Given the description of an element on the screen output the (x, y) to click on. 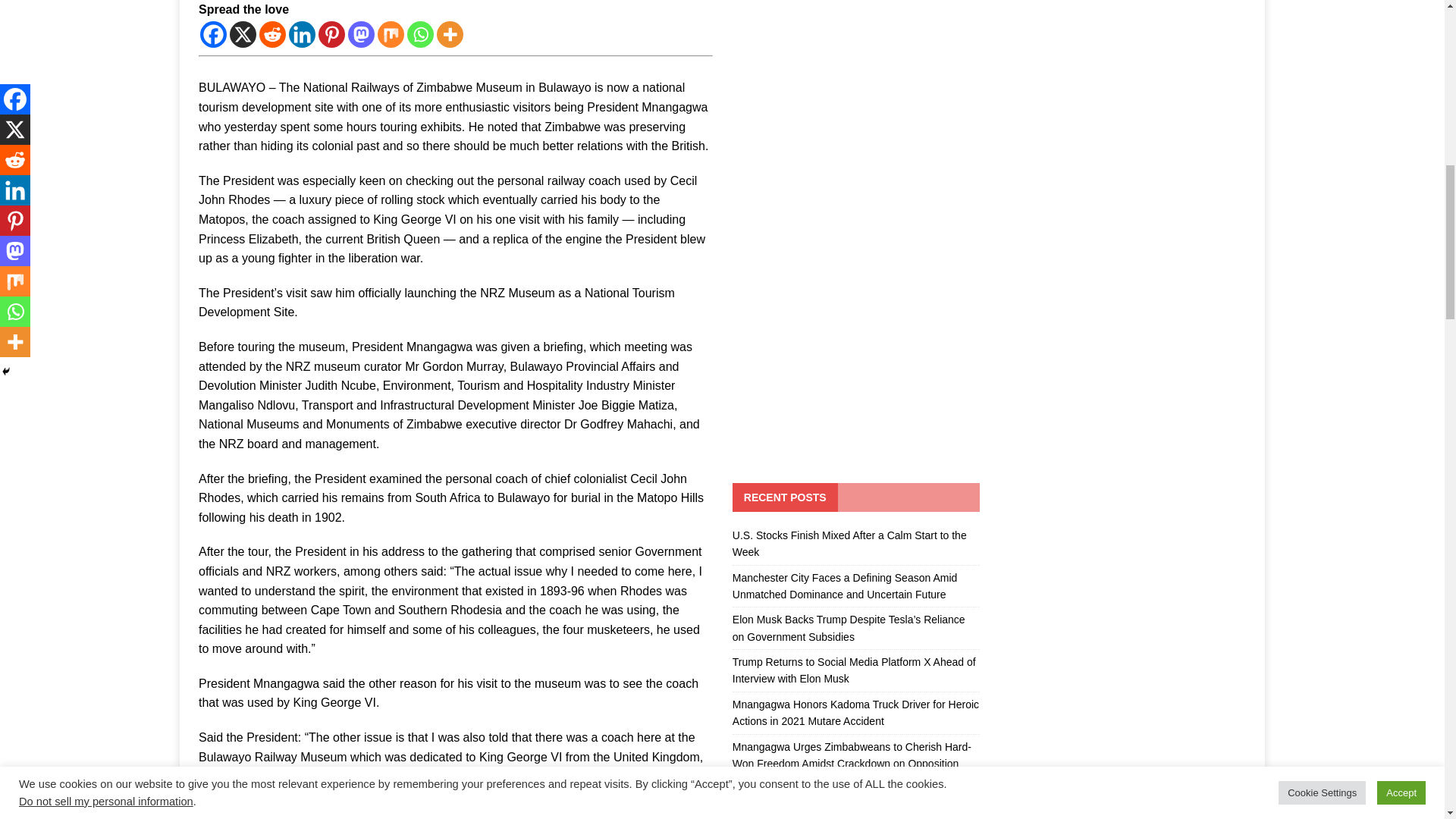
Mastodon (360, 34)
Facebook (213, 34)
Mix (390, 34)
Whatsapp (420, 34)
X (243, 34)
Linkedin (301, 34)
Pinterest (331, 34)
Reddit (272, 34)
